Given the description of an element on the screen output the (x, y) to click on. 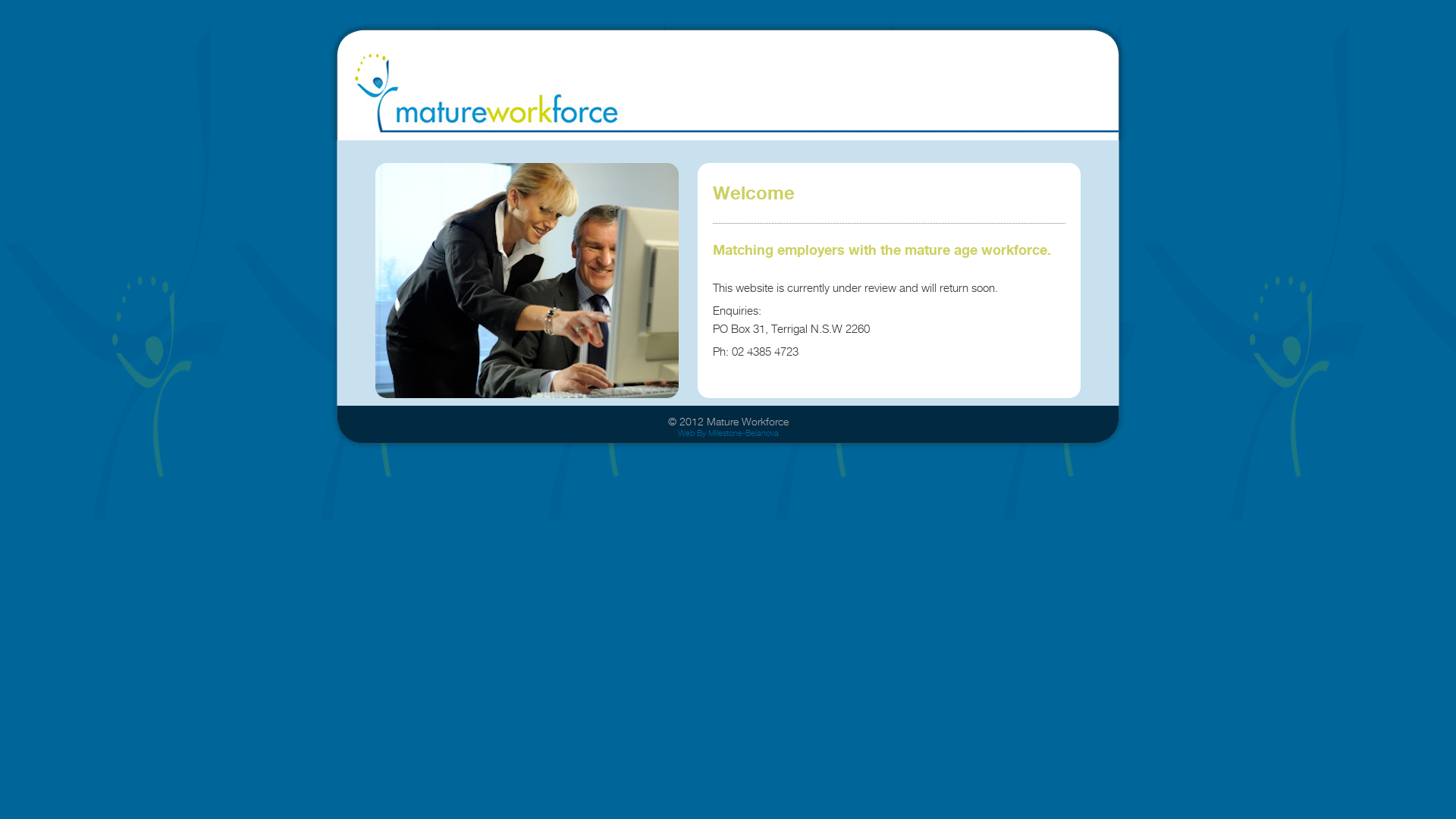
Web By Milestone-Belanova Element type: text (727, 432)
